Given the description of an element on the screen output the (x, y) to click on. 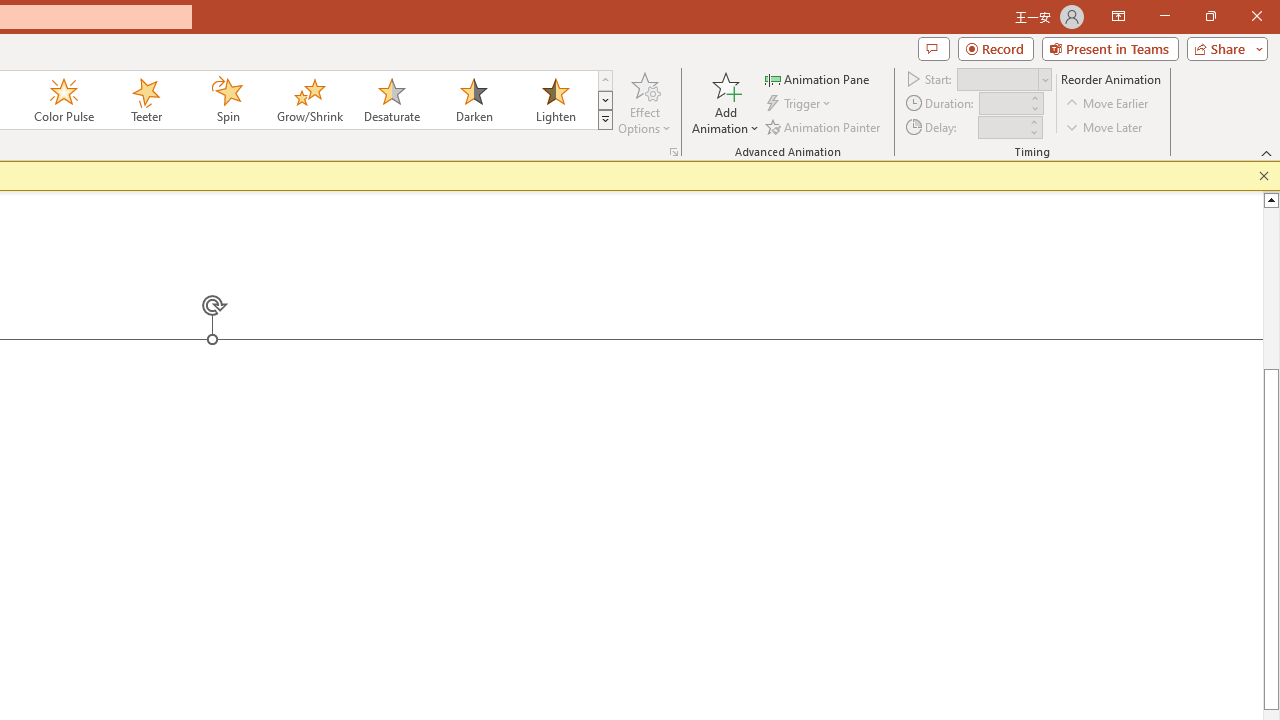
Close this message (1263, 176)
Spin (227, 100)
Lighten (555, 100)
Teeter (145, 100)
